Given the description of an element on the screen output the (x, y) to click on. 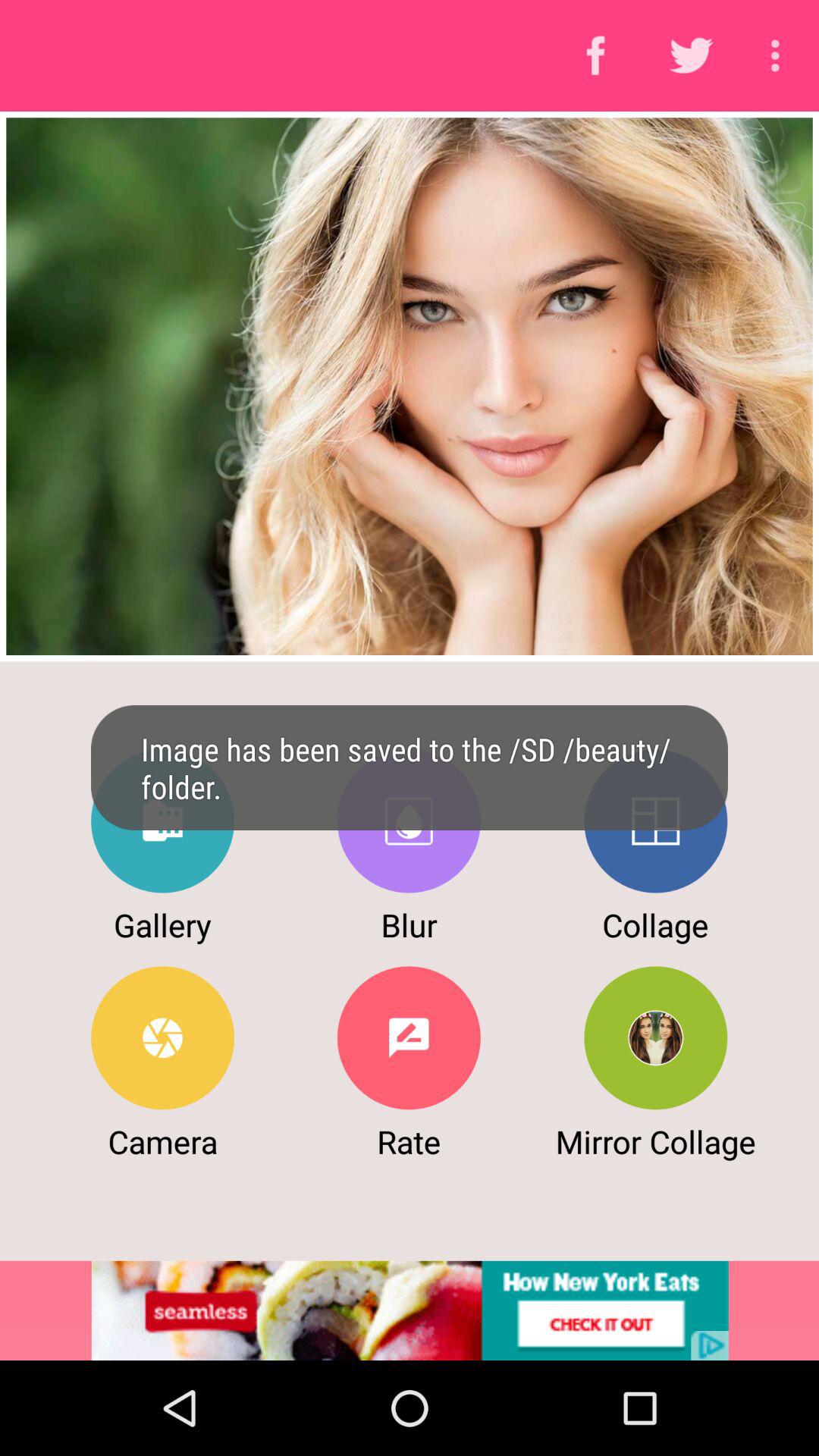
blur the input image (408, 820)
